Given the description of an element on the screen output the (x, y) to click on. 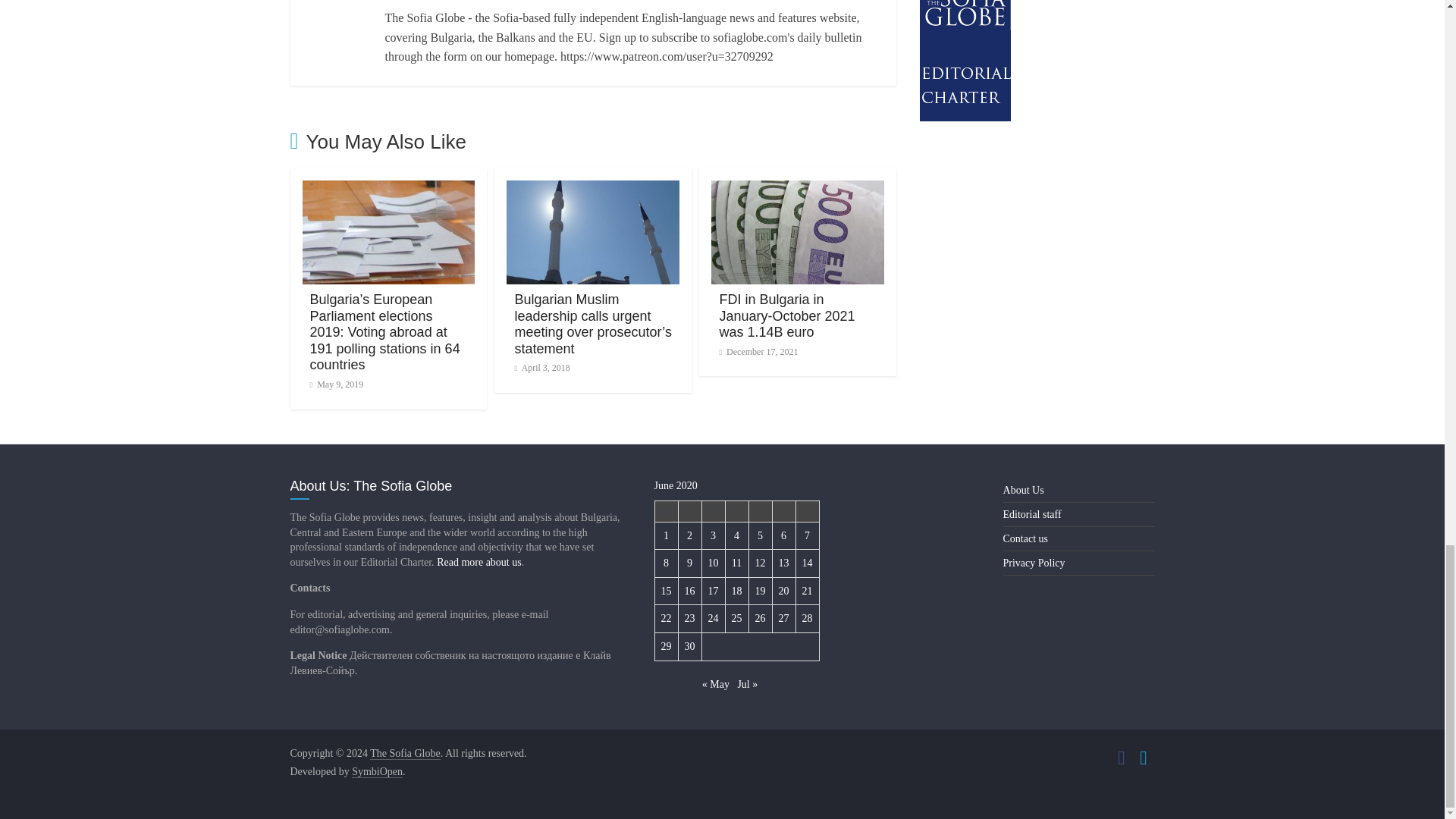
April 3, 2018 (541, 367)
FDI in Bulgaria in January-October 2021 was 1.14B euro (786, 315)
December 17, 2021 (758, 351)
4:00 PM (335, 384)
May 9, 2019 (335, 384)
4:51 PM (541, 367)
